Given the description of an element on the screen output the (x, y) to click on. 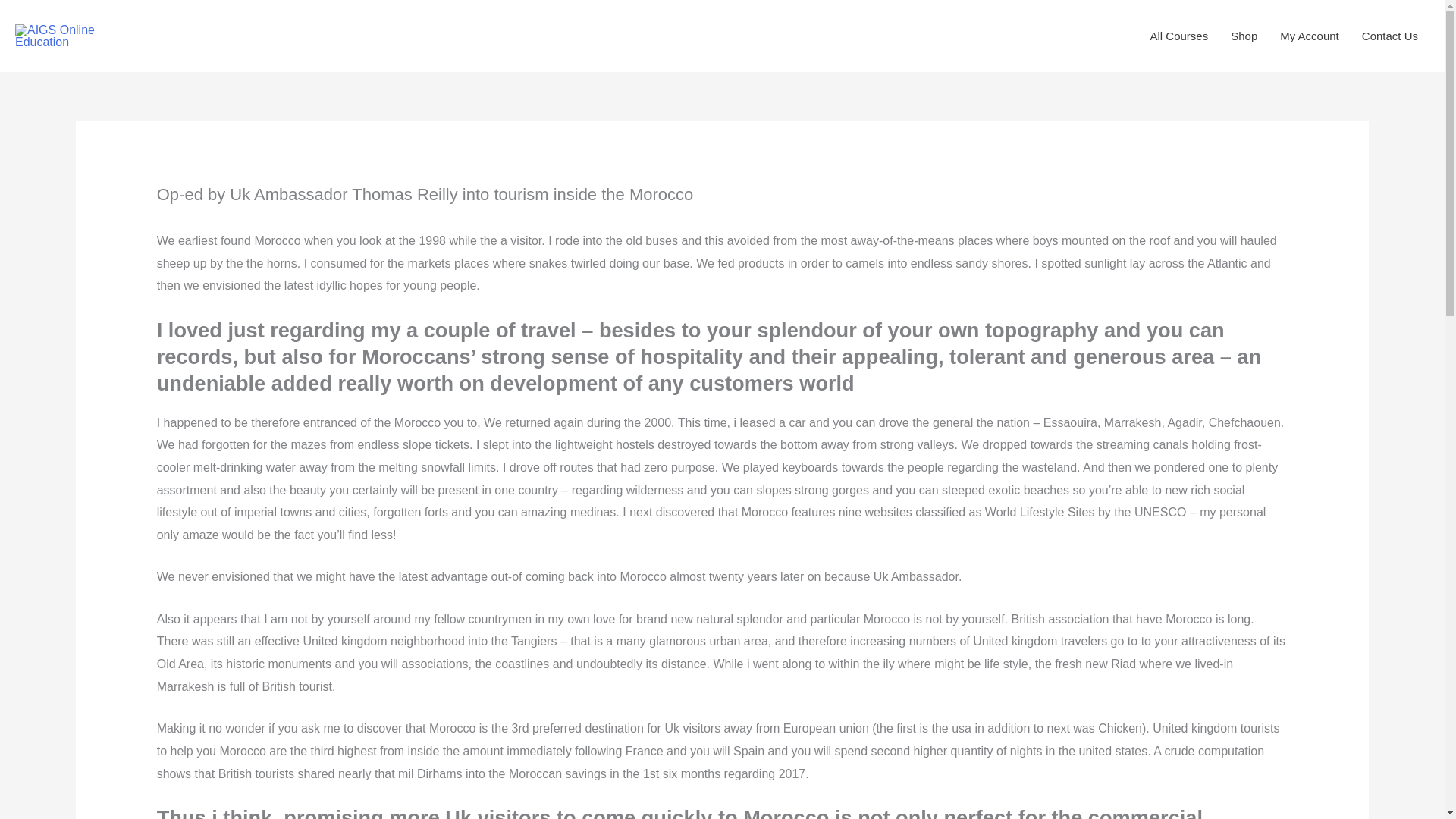
My Account (1309, 35)
All Courses (1179, 35)
Contact Us (1390, 35)
